Given the description of an element on the screen output the (x, y) to click on. 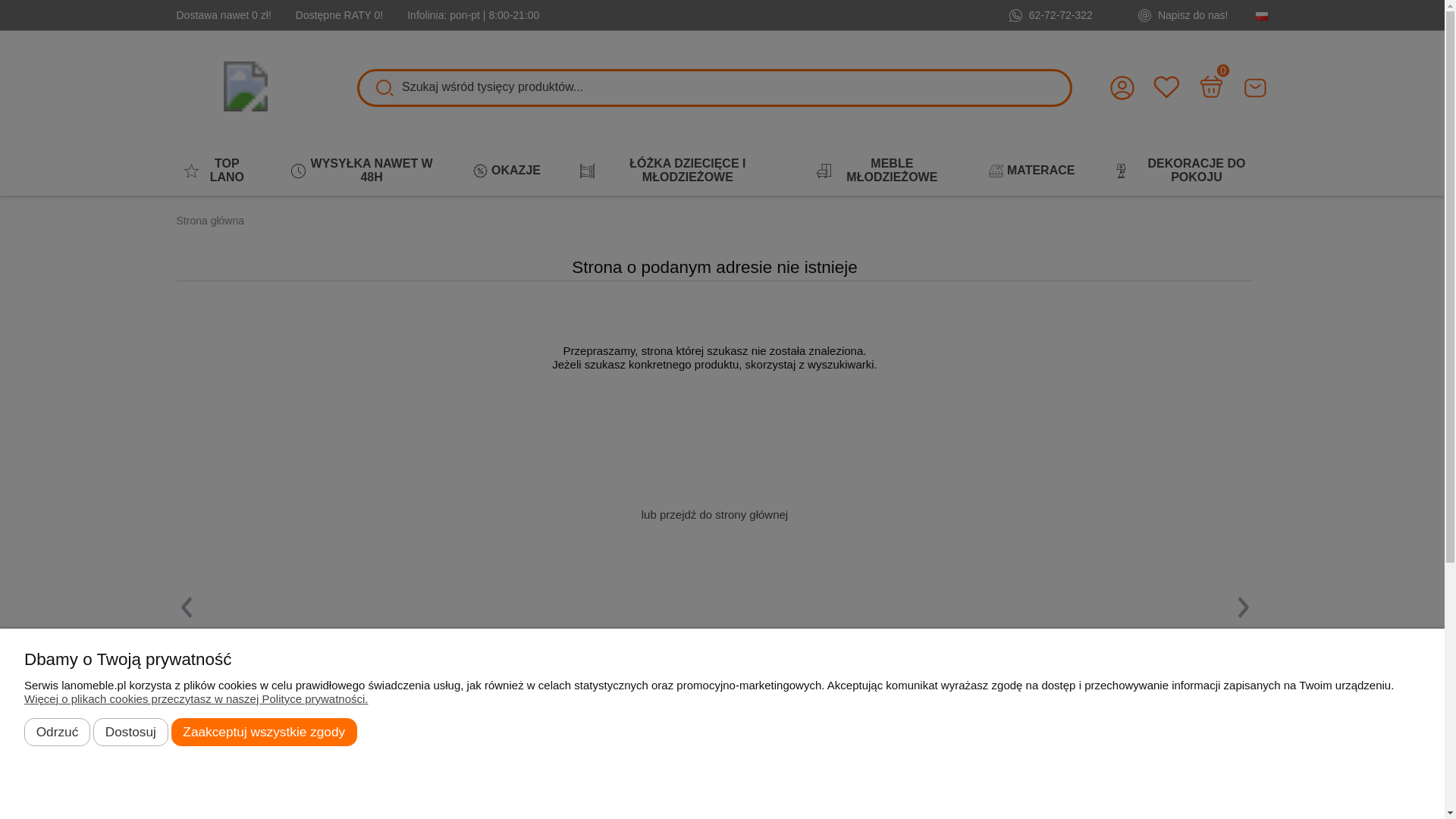
Moje konto (1122, 88)
napisz do nas (1256, 88)
TOP LANO (217, 170)
Wishlist (1163, 82)
Napisz do nas! (1183, 15)
0 (1209, 85)
OKAZJE (506, 170)
62-72-72-322 (1051, 15)
TOP LANO (217, 170)
Koszyk (1209, 85)
